Given the description of an element on the screen output the (x, y) to click on. 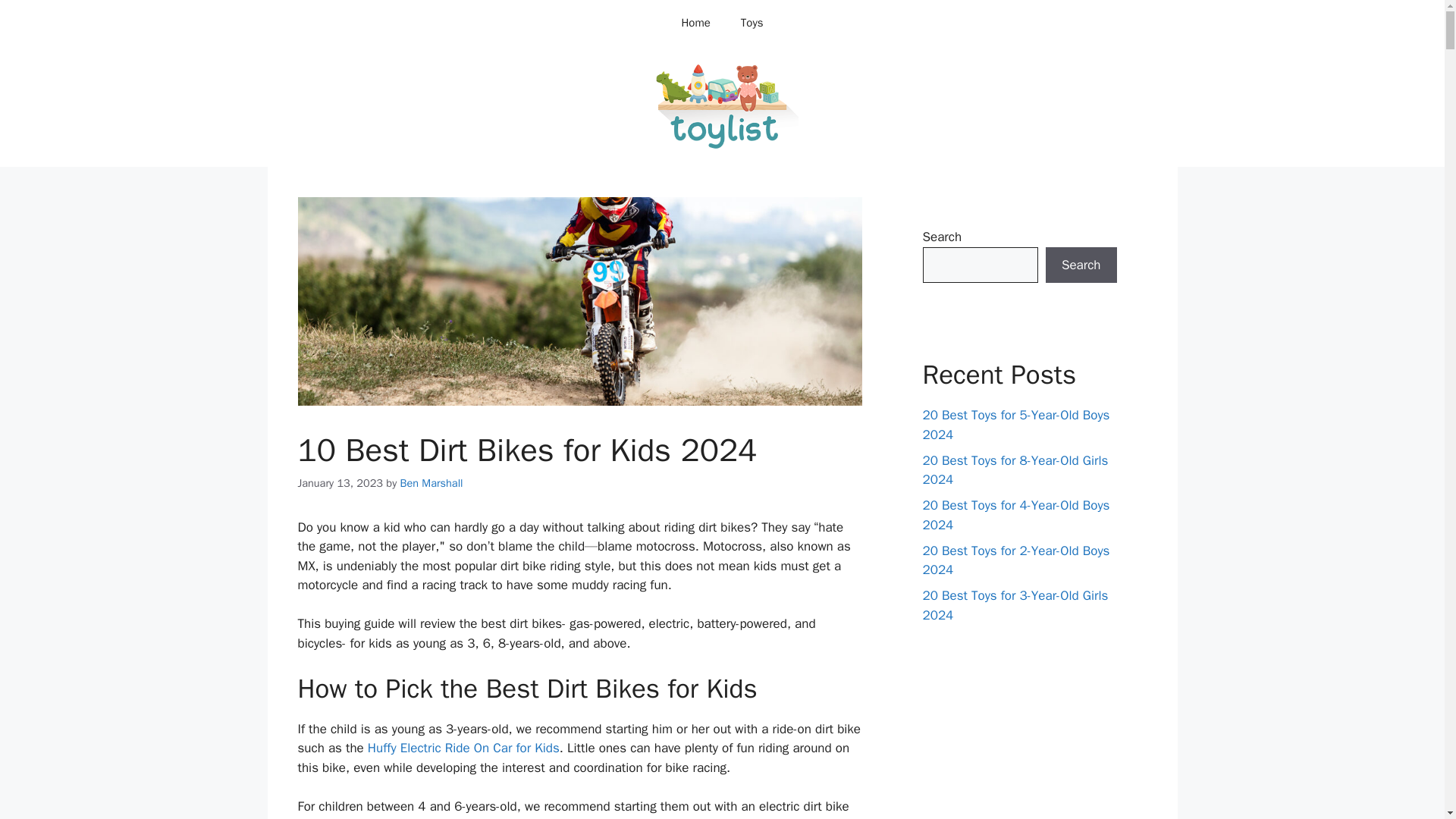
View all posts by Ben Marshall (431, 482)
Toys (751, 22)
Huffy Electric Ride On Car for Kids (463, 747)
Home (695, 22)
Ben Marshall (431, 482)
